Given the description of an element on the screen output the (x, y) to click on. 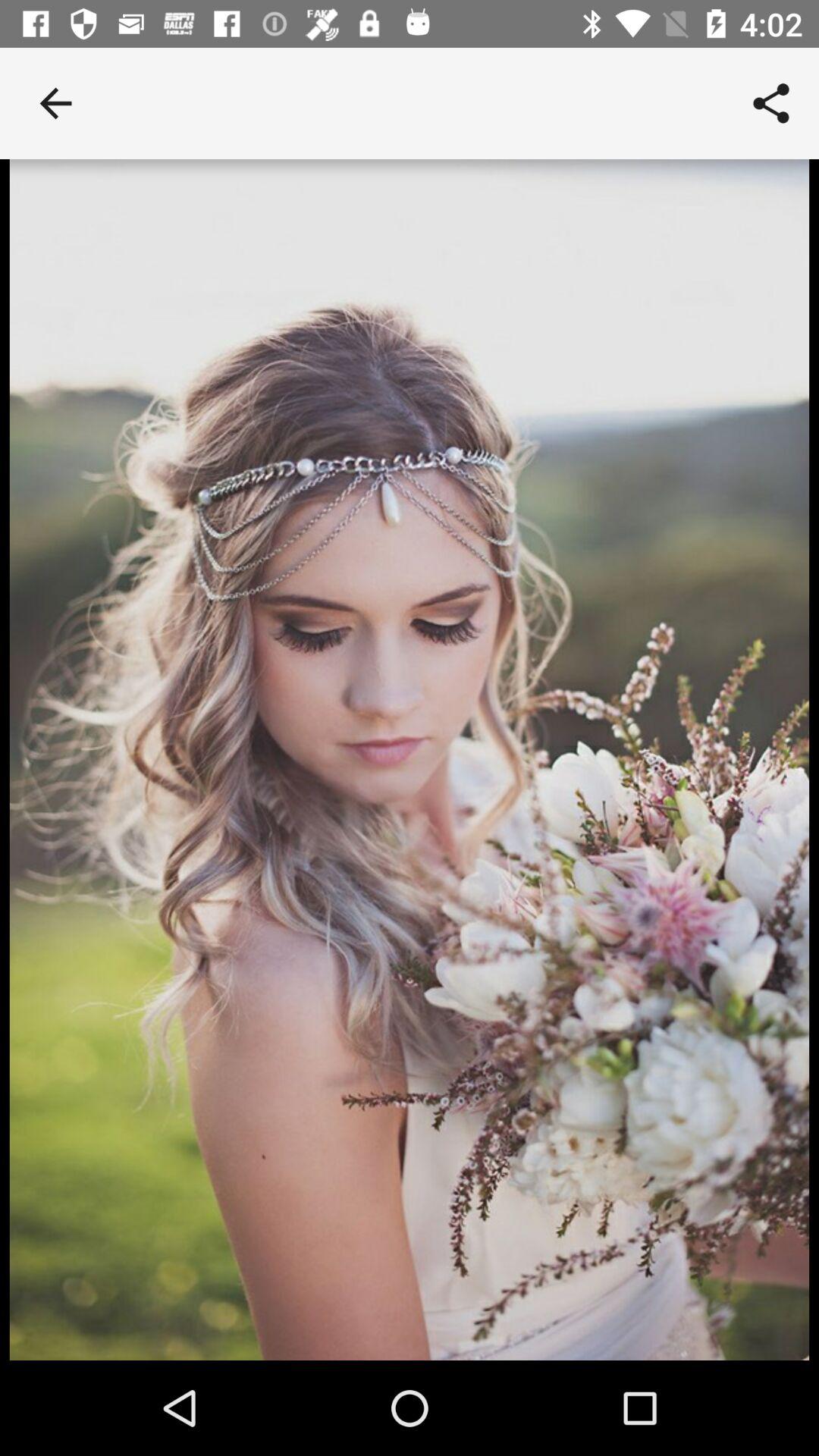
turn on the icon at the top left corner (55, 103)
